Given the description of an element on the screen output the (x, y) to click on. 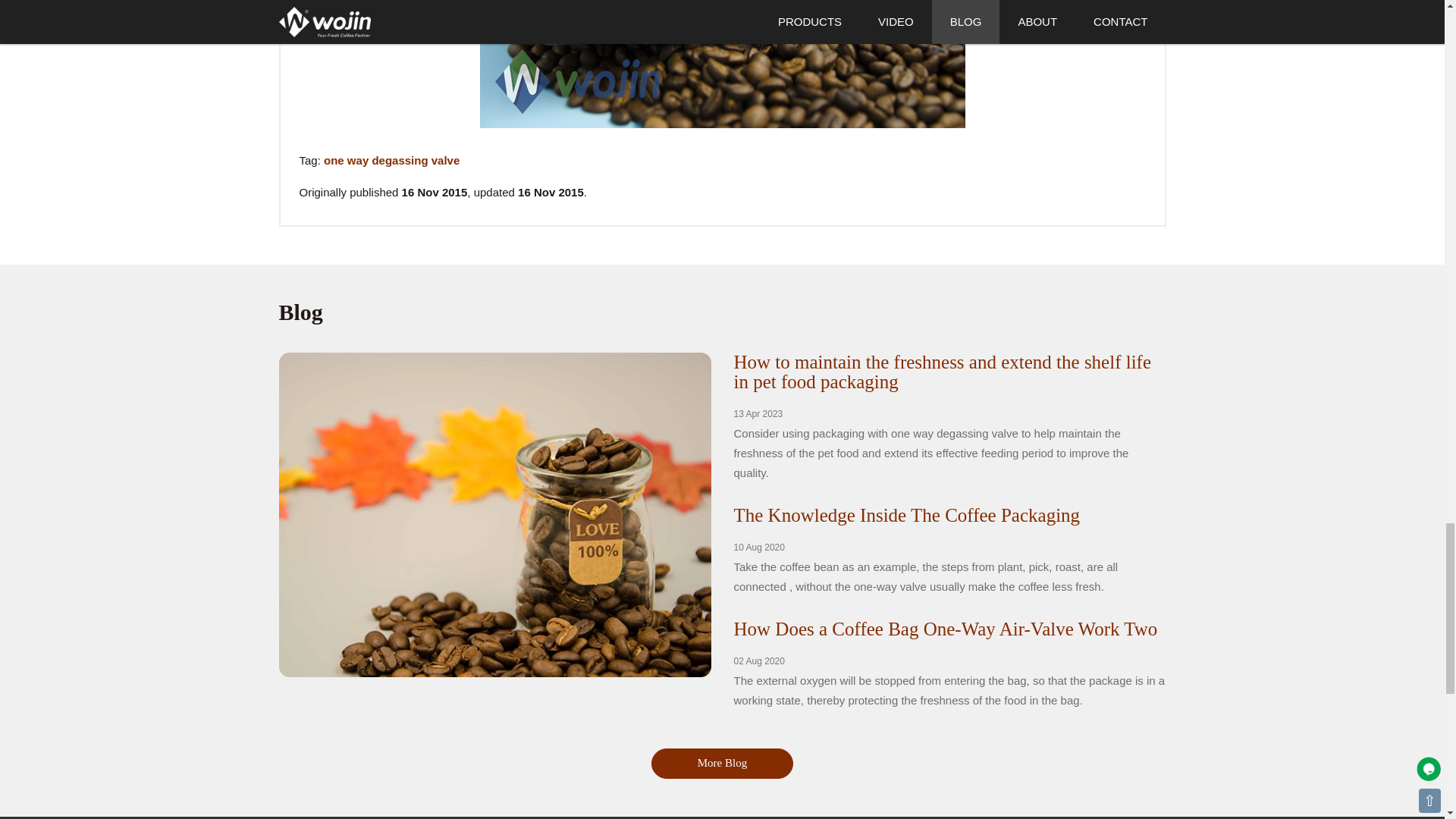
The Knowledge Inside The Coffee Packaging (906, 515)
The Knowledge Inside The Coffee Packaging (906, 515)
More Blog (721, 763)
one way degassing valve (391, 160)
How Does a Coffee Bag One-Way Air-Valve Work Two (945, 629)
How Does a Coffee Bag One-Way Air-Valve Work Two (945, 629)
